Given the description of an element on the screen output the (x, y) to click on. 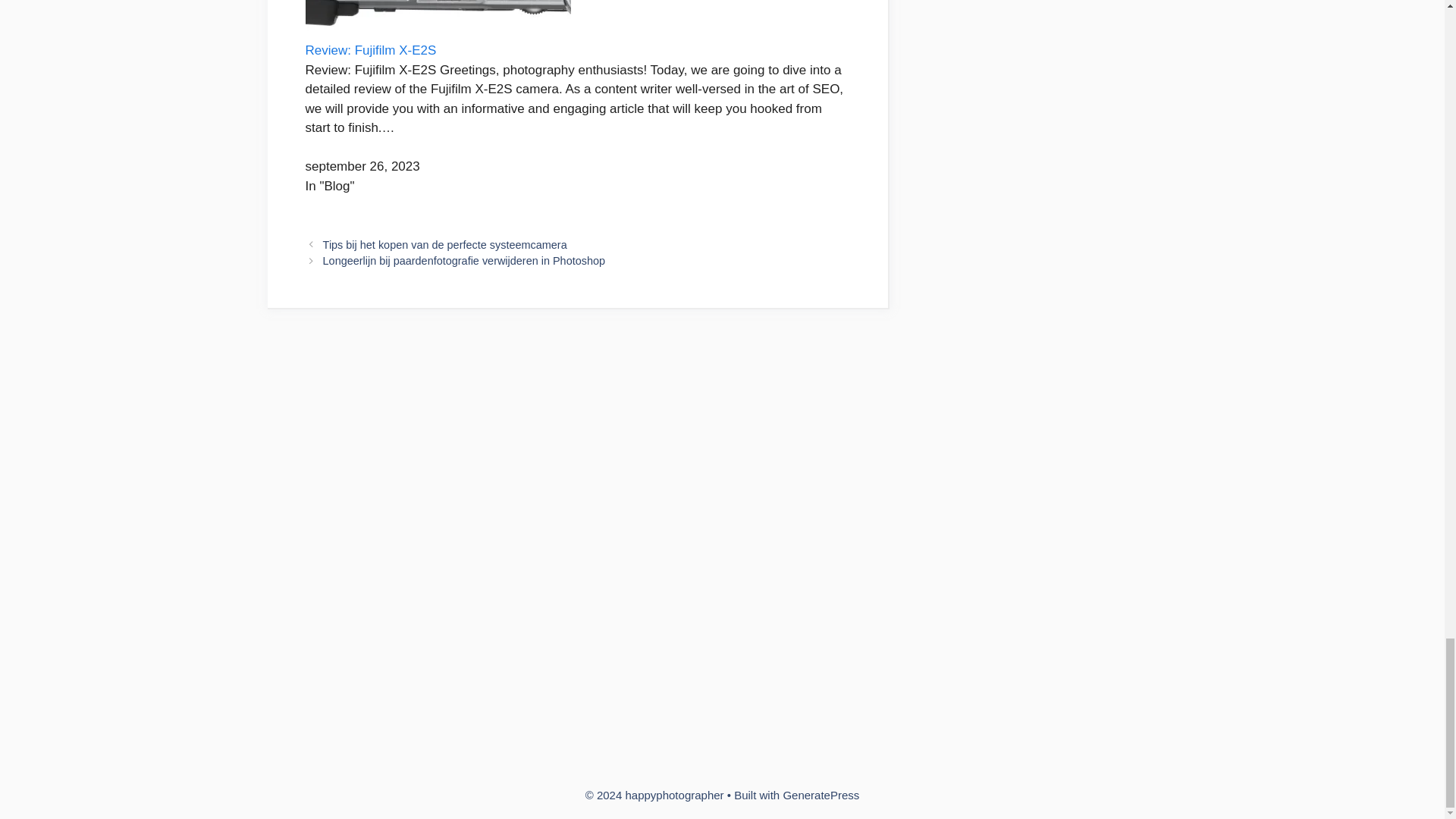
Longeerlijn bij paardenfotografie verwijderen in Photoshop (464, 260)
Review: Fujifilm X-E2S (369, 50)
Review: Fujifilm X-E2S (369, 50)
GeneratePress (821, 794)
Tips bij het kopen van de perfecte systeemcamera (445, 244)
Review: Fujifilm X-E2S (437, 31)
